Given the description of an element on the screen output the (x, y) to click on. 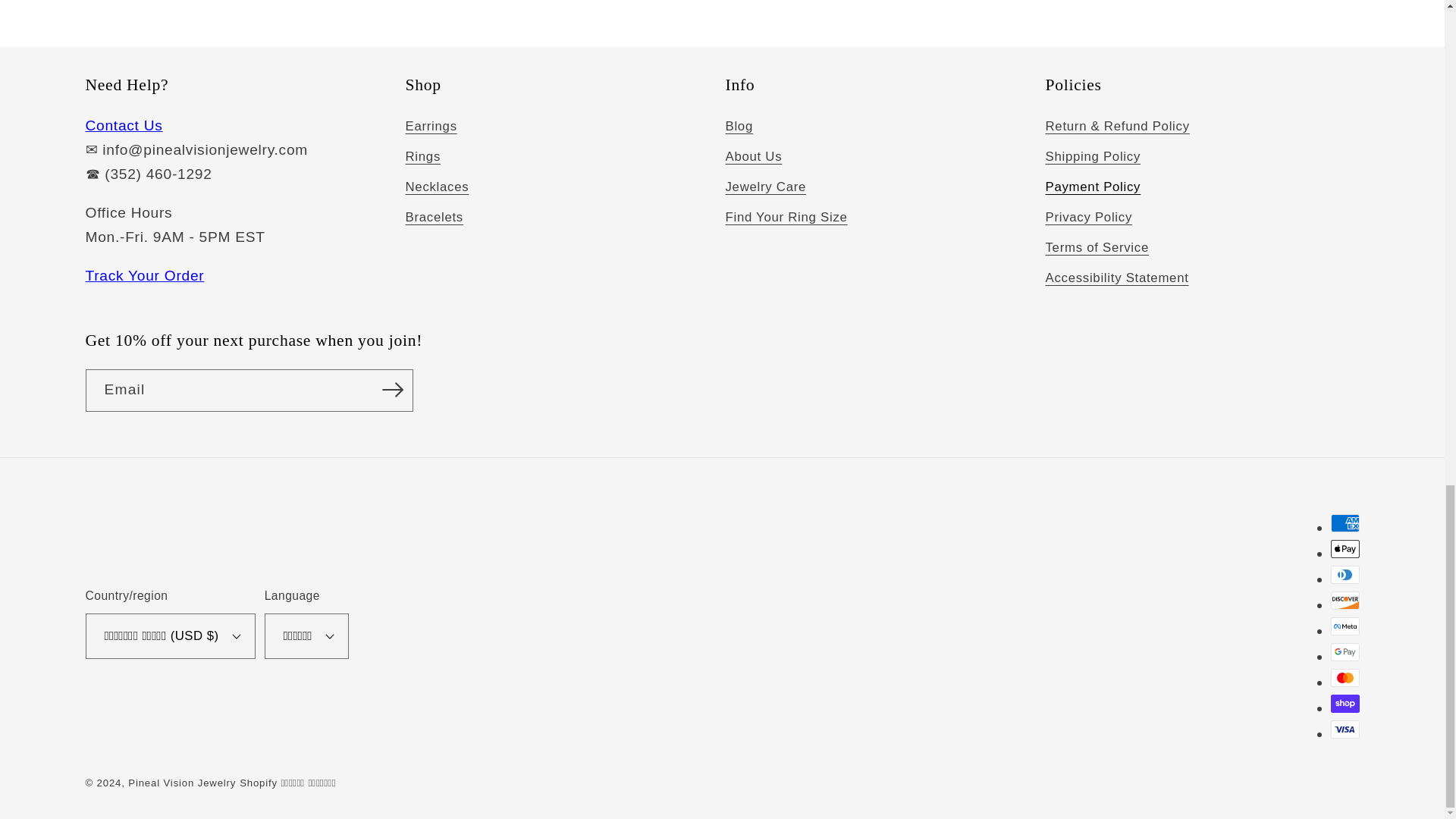
Visa (1344, 729)
Google Pay (1344, 651)
Contact Pineal Vision Jewelry (122, 125)
American Express (1344, 523)
Shop Pay (1344, 703)
Apple Pay (1344, 548)
Discover (1344, 600)
Mastercard (1344, 678)
Meta Pay (1344, 626)
Diners Club (1344, 574)
